Given the description of an element on the screen output the (x, y) to click on. 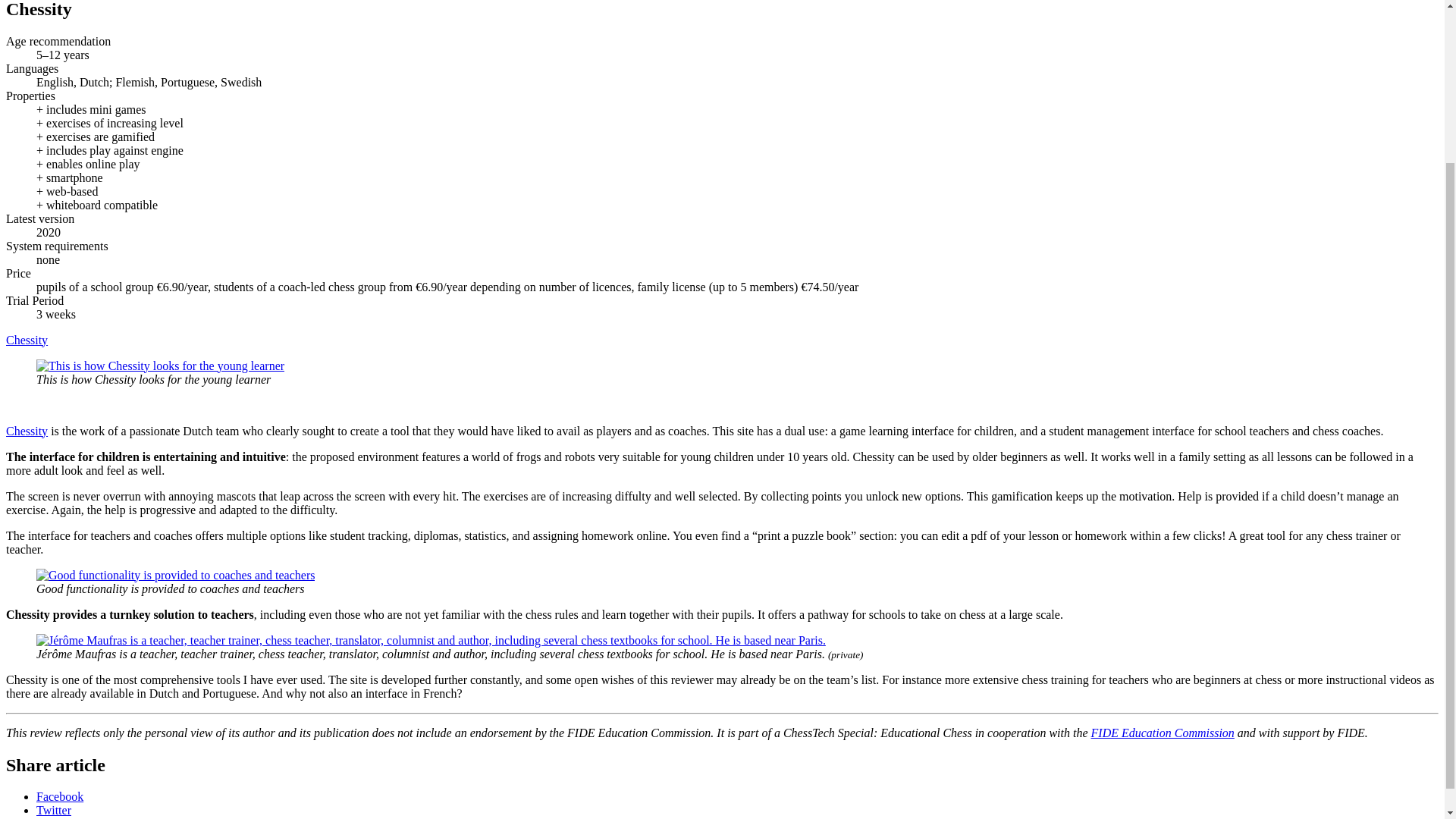
This is how Chessity looks for the young learner  (159, 365)
Chessity (26, 431)
FIDE Education Commission (1162, 732)
Twitter (53, 809)
Facebook (59, 796)
Chessity (26, 339)
Works on a smartphone (74, 177)
Good functionality is provided to coaches and teachers  (175, 574)
